Given the description of an element on the screen output the (x, y) to click on. 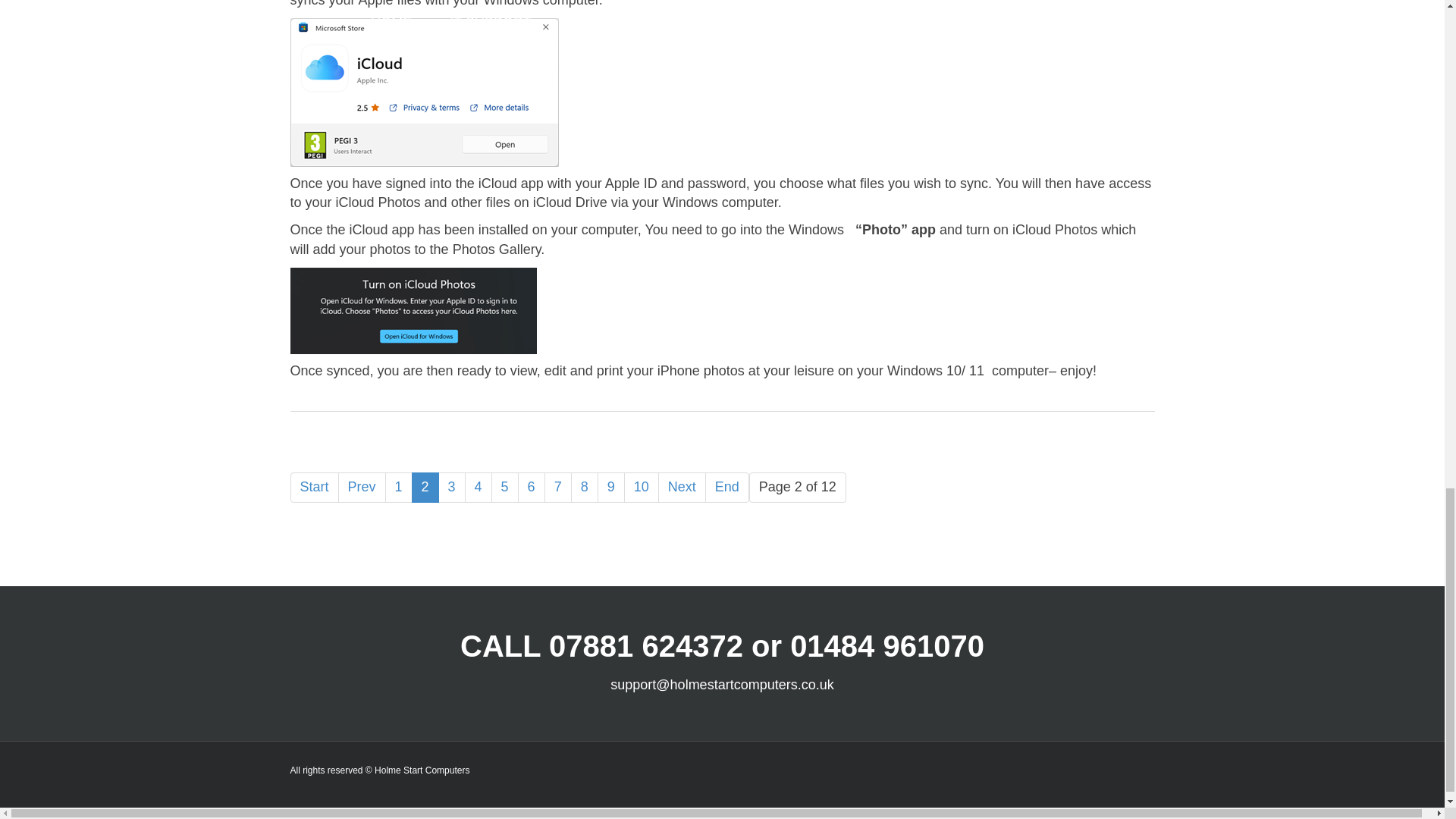
5 (505, 487)
6 (531, 487)
7 (558, 487)
01484 961070 (887, 645)
10 (641, 487)
07881 624372 (645, 645)
3 (451, 487)
9 (610, 487)
8 (584, 487)
Start (313, 487)
